Given the description of an element on the screen output the (x, y) to click on. 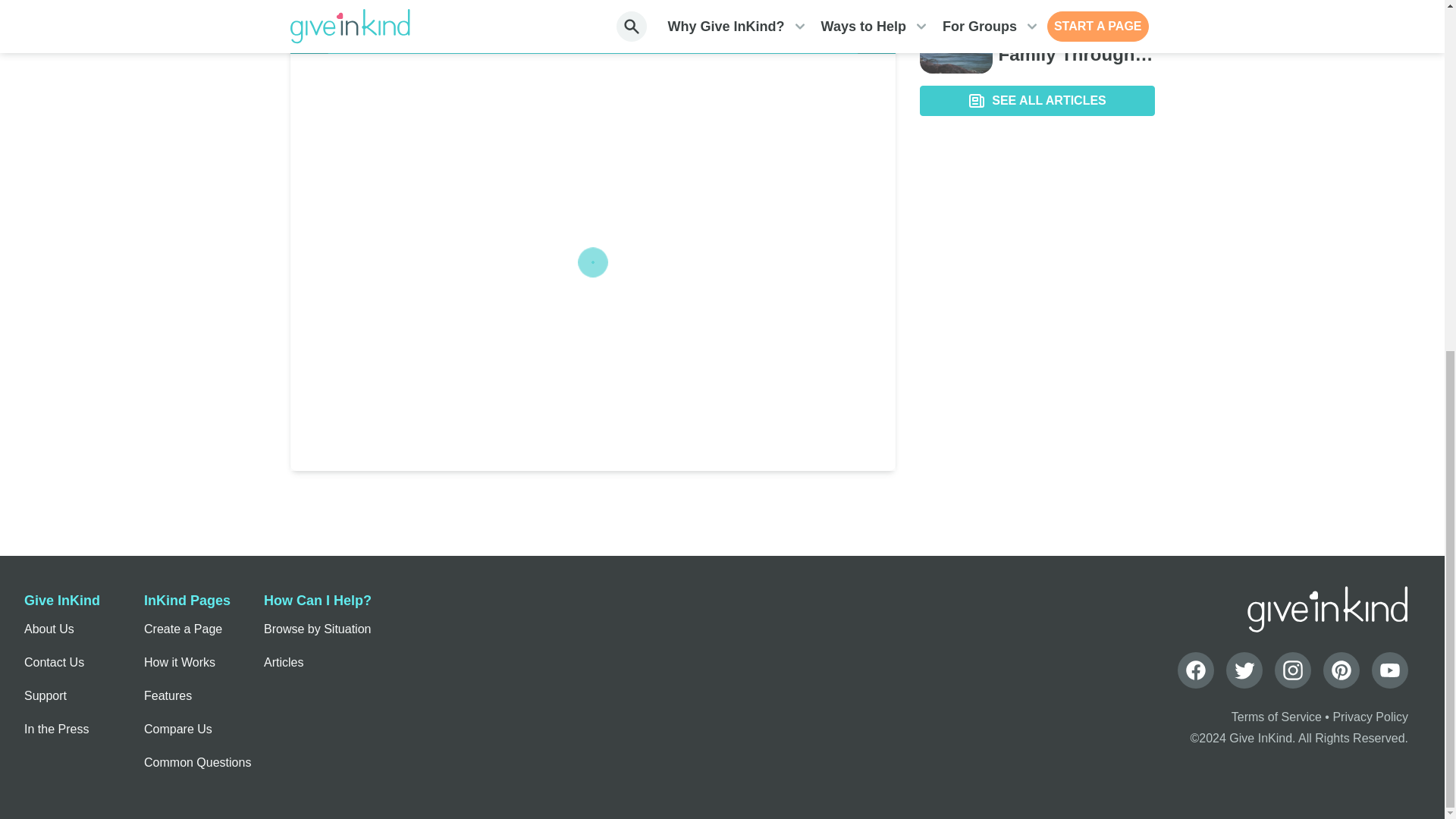
How To Help A Family Through Cancer Treatment (1075, 42)
PRINT MONTH (831, 4)
Cancer (1075, 12)
